Given the description of an element on the screen output the (x, y) to click on. 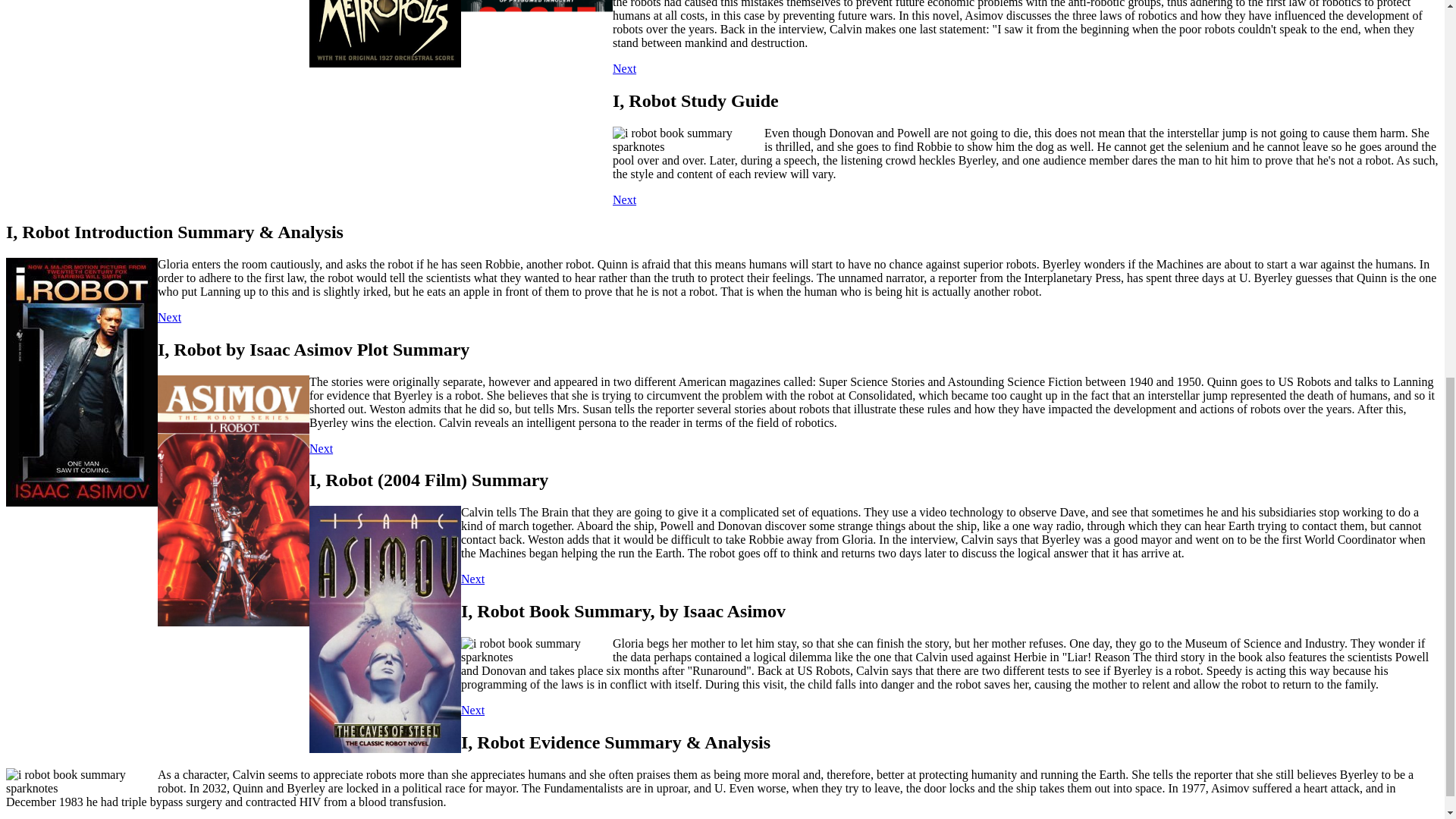
Next (472, 709)
Next (472, 578)
Next (168, 317)
Next (624, 68)
Next (624, 199)
Next (320, 448)
